Given the description of an element on the screen output the (x, y) to click on. 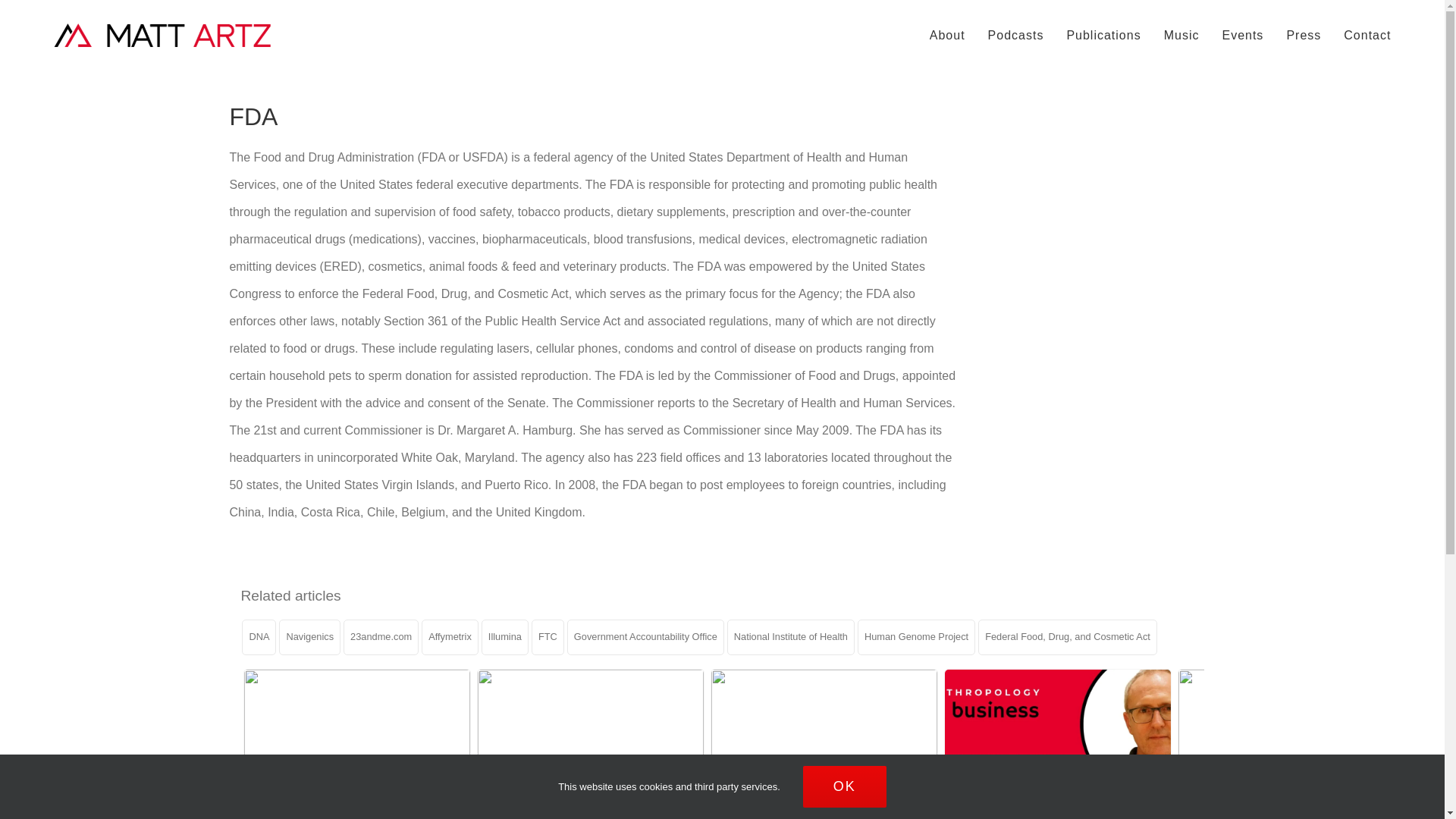
Events (1242, 35)
Publications (1102, 35)
Podcasts (1015, 35)
Music (1181, 35)
About (947, 35)
Contact (1366, 35)
Press (1302, 35)
